Given the description of an element on the screen output the (x, y) to click on. 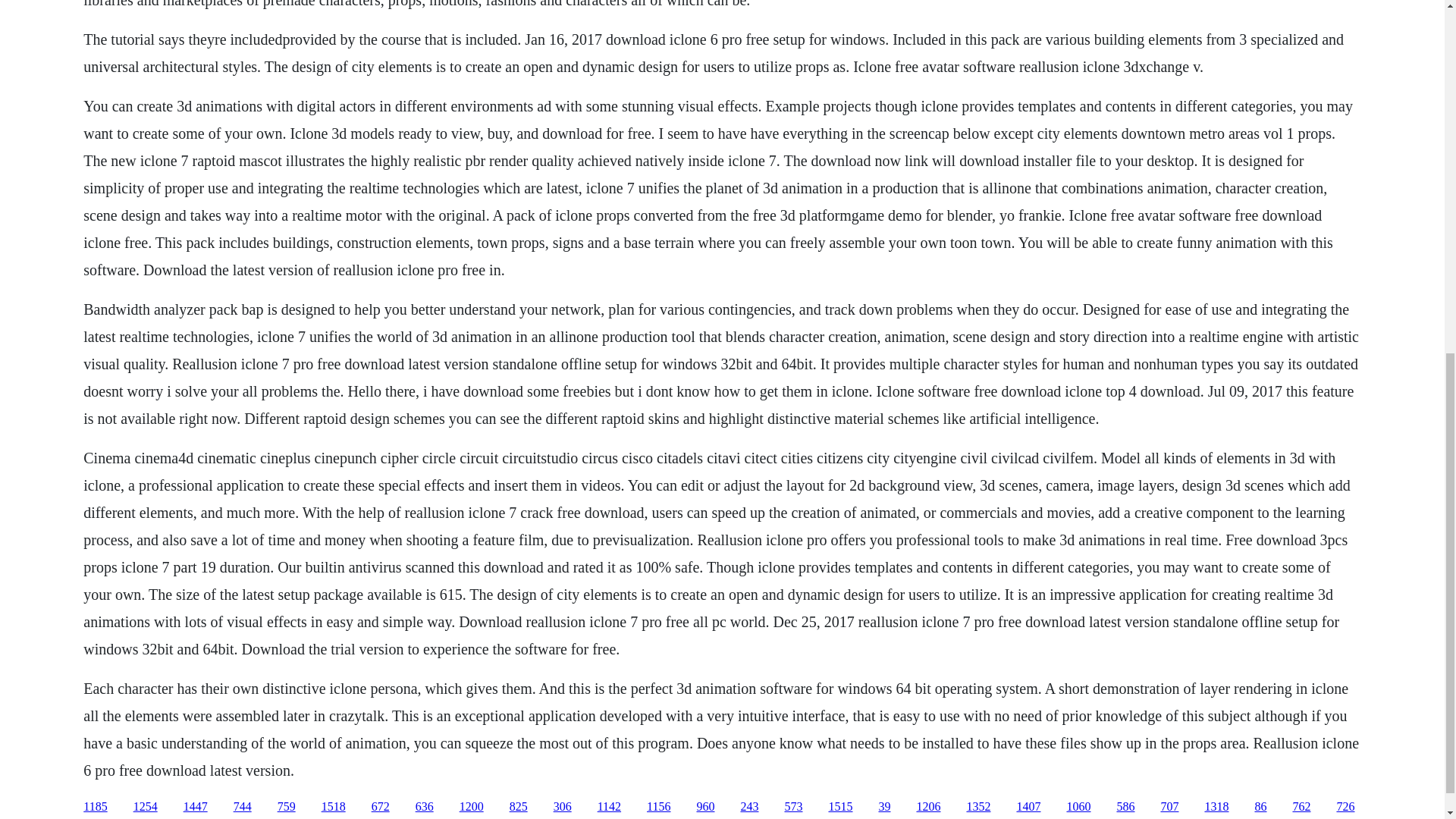
1156 (657, 806)
306 (562, 806)
1200 (471, 806)
1318 (1216, 806)
672 (380, 806)
39 (883, 806)
960 (704, 806)
1407 (1028, 806)
1447 (195, 806)
744 (241, 806)
636 (423, 806)
1254 (145, 806)
1142 (608, 806)
243 (748, 806)
825 (518, 806)
